Given the description of an element on the screen output the (x, y) to click on. 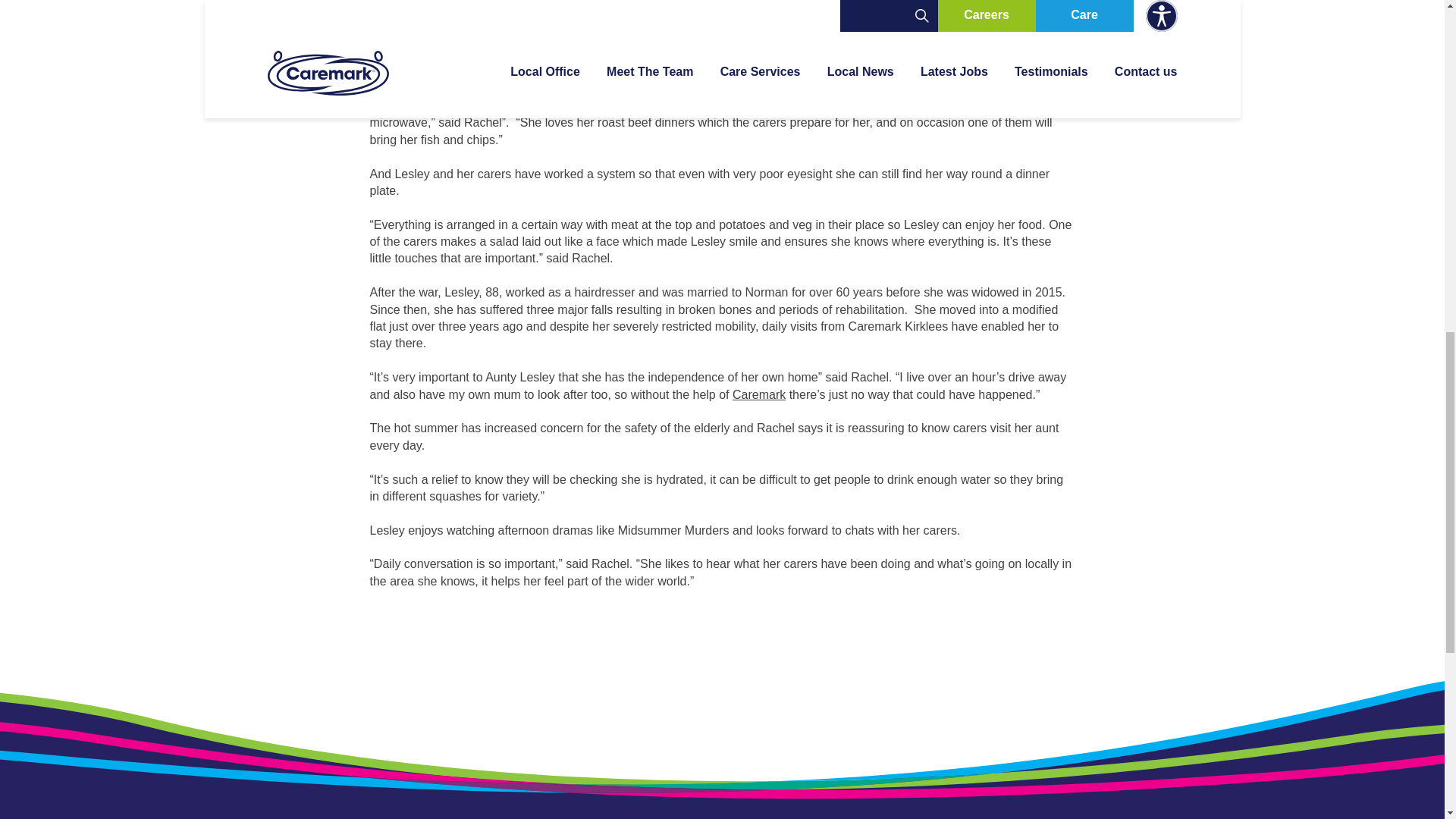
Caremark (759, 394)
